Given the description of an element on the screen output the (x, y) to click on. 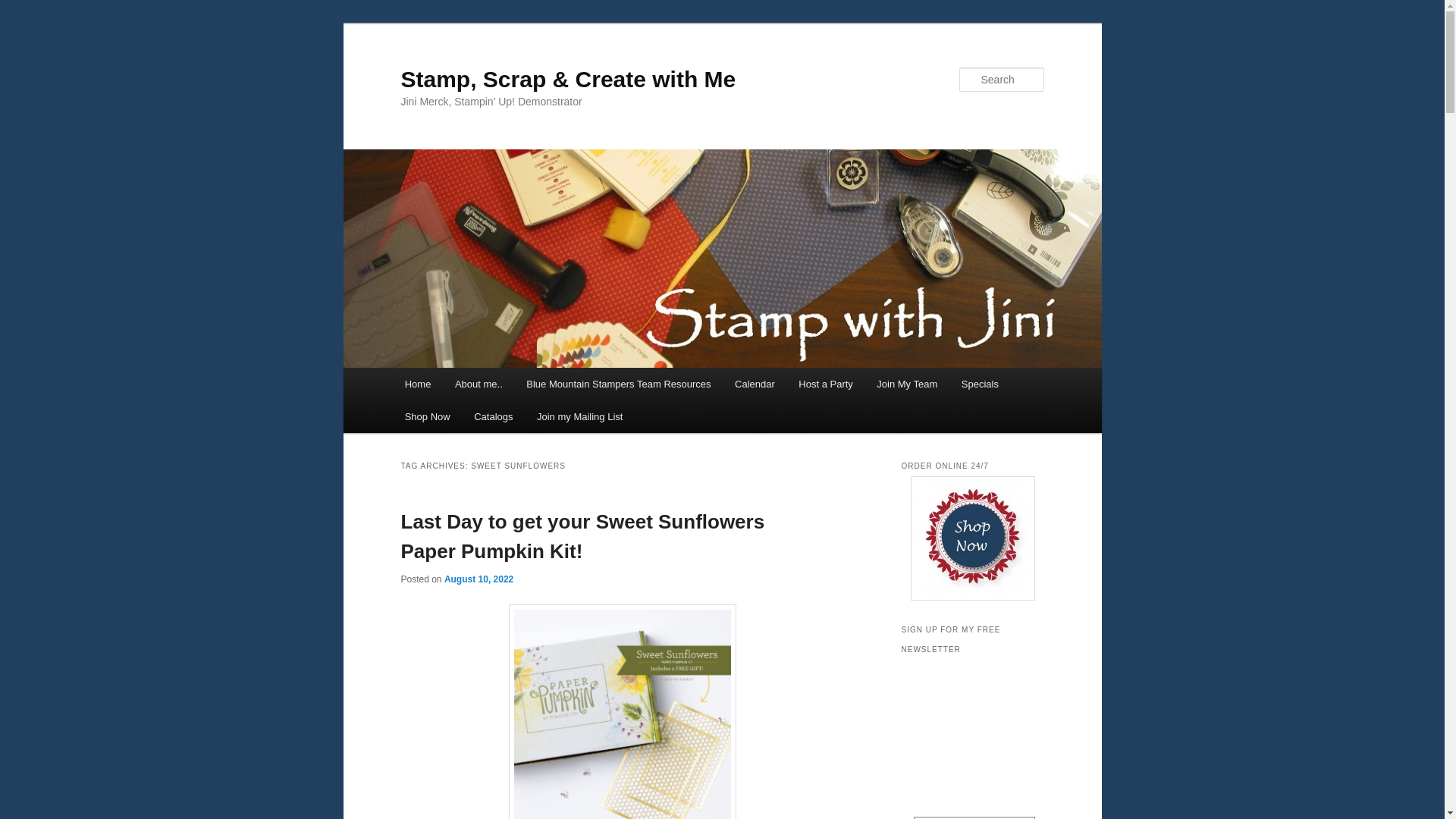
10:05 am (478, 579)
Calendar (754, 383)
Search (24, 8)
Join My Team (906, 383)
Catalogs (492, 416)
Host a Party (825, 383)
Join my Mailing List (579, 416)
Specials (979, 383)
Last Day to get your Sweet Sunflowers Paper Pumpkin Kit! (582, 536)
